Given the description of an element on the screen output the (x, y) to click on. 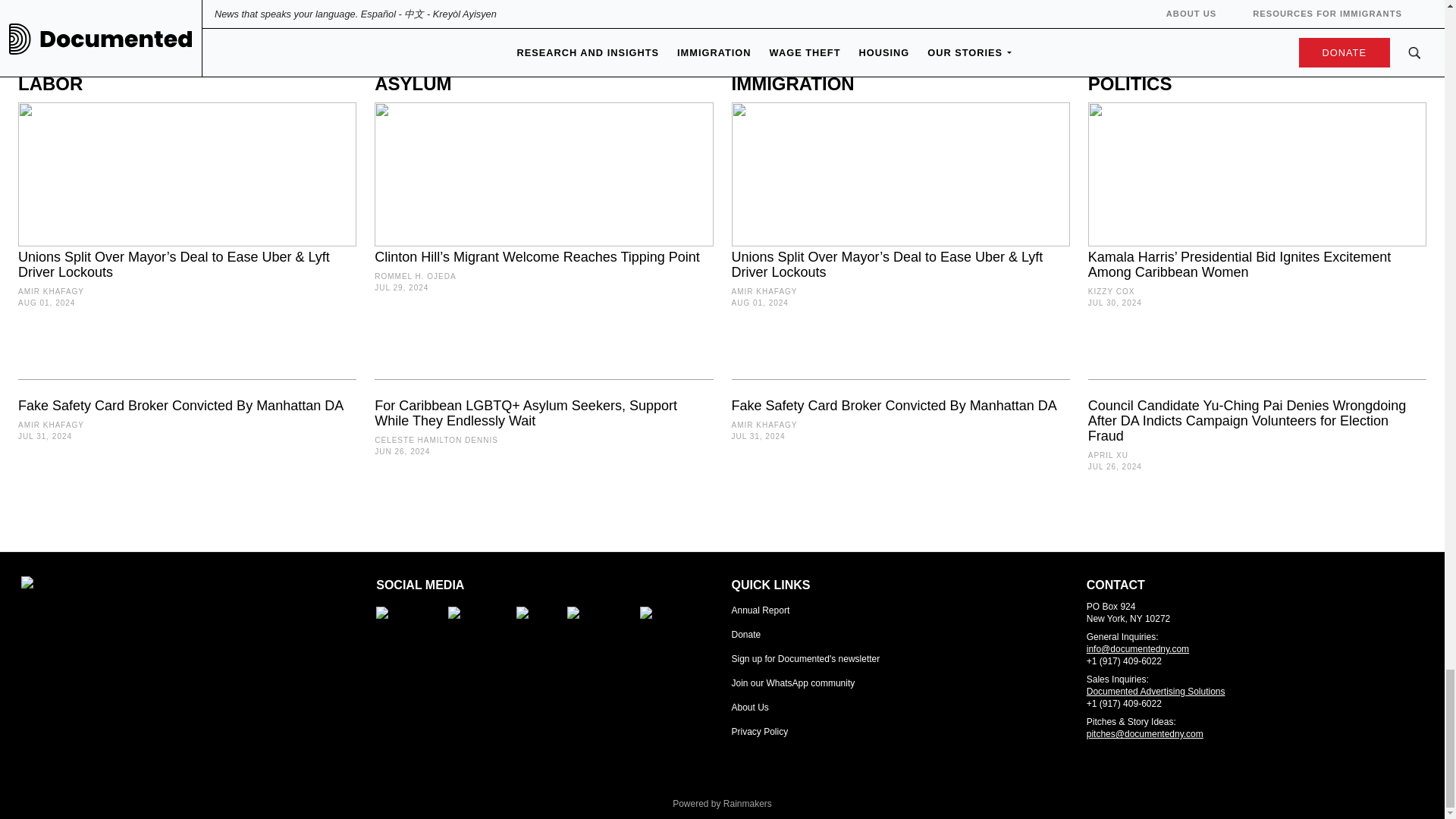
Posts by Amir Khafagy (50, 424)
Posts by Celeste Hamilton Dennis (435, 439)
Posts by Amir Khafagy (763, 424)
Posts by Amir Khafagy (763, 291)
Posts by Kizzy Cox (1111, 291)
Posts by Amir Khafagy (50, 291)
Posts by April Xu (1107, 455)
Posts by Rommel H. Ojeda (414, 275)
